Given the description of an element on the screen output the (x, y) to click on. 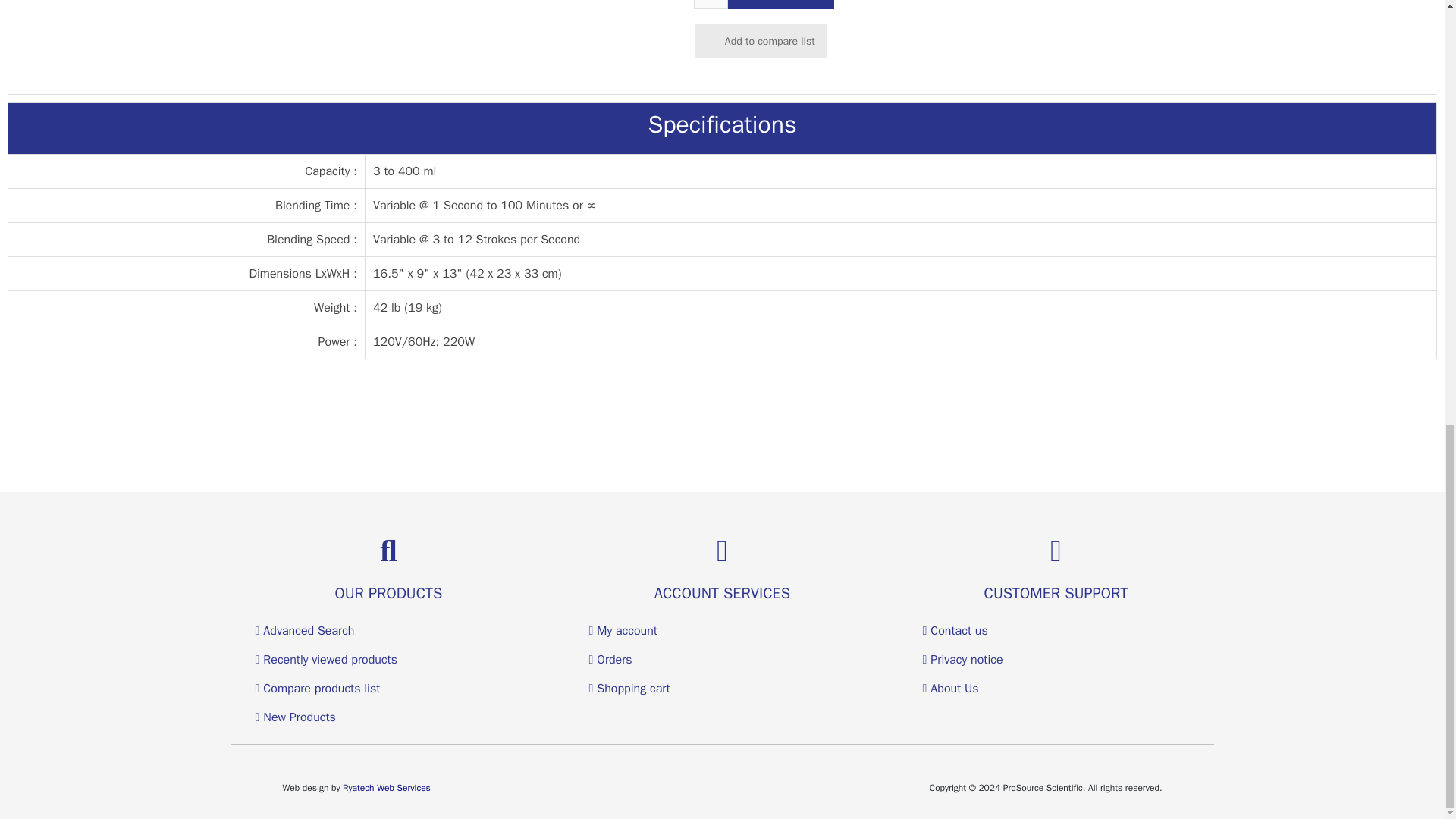
1 (711, 4)
